Given the description of an element on the screen output the (x, y) to click on. 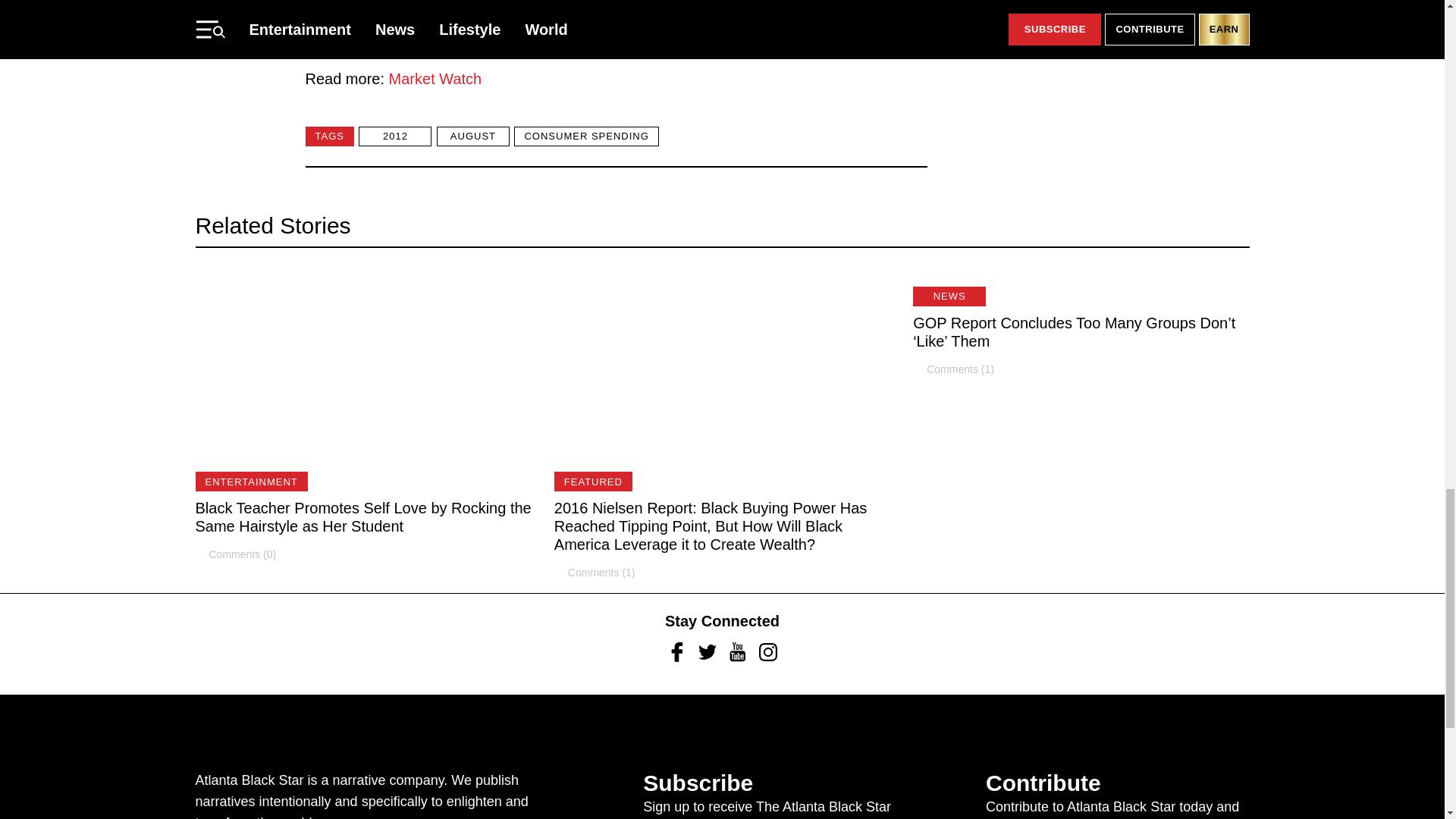
Market Watch (434, 78)
